Given the description of an element on the screen output the (x, y) to click on. 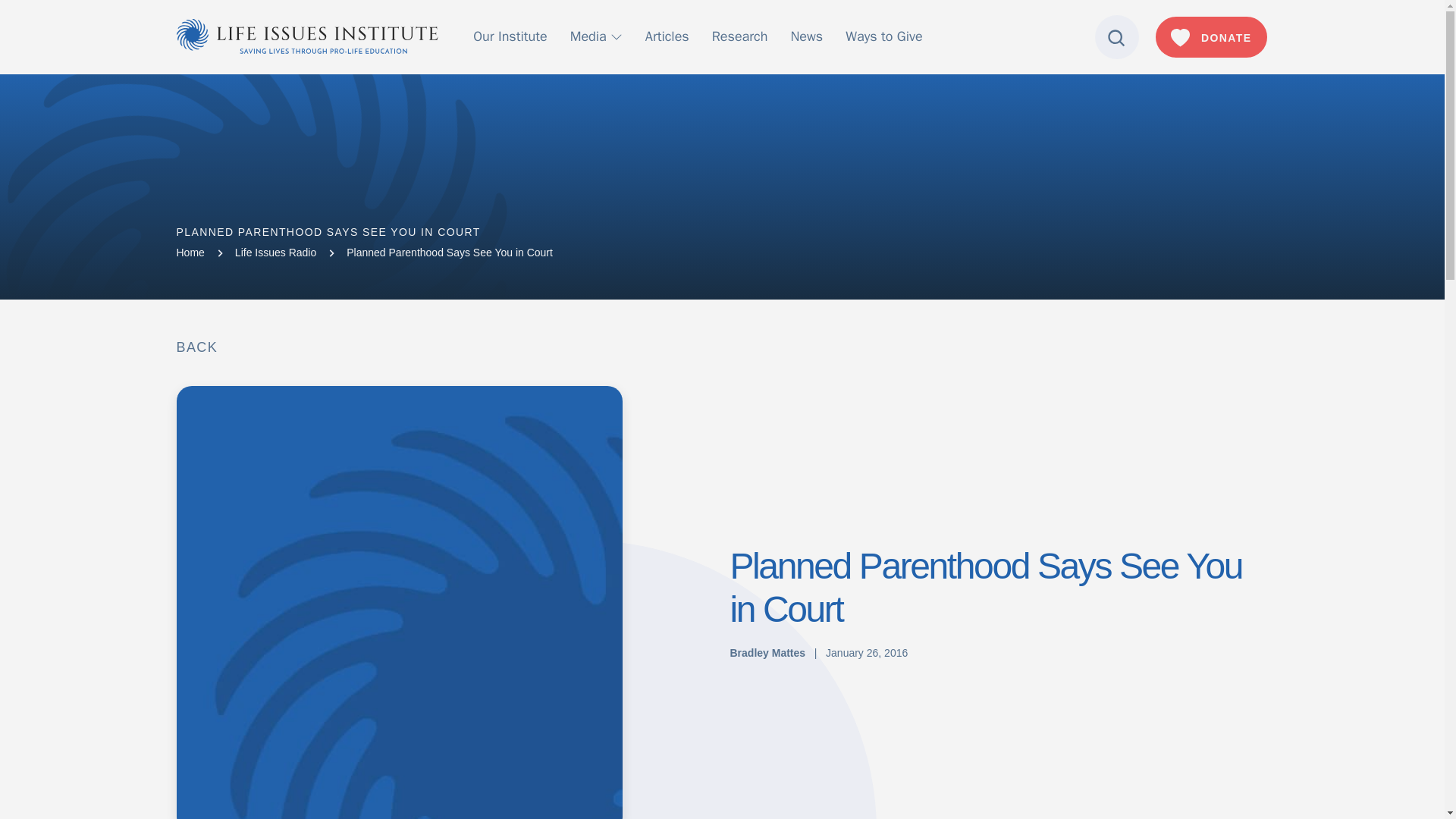
Our Institute (510, 36)
DONATE (1211, 36)
Articles (666, 36)
Home (189, 252)
News (806, 36)
Life Issues Radio (274, 252)
Media (596, 36)
Research (739, 36)
Ways to Give (883, 36)
BACK (196, 347)
